Given the description of an element on the screen output the (x, y) to click on. 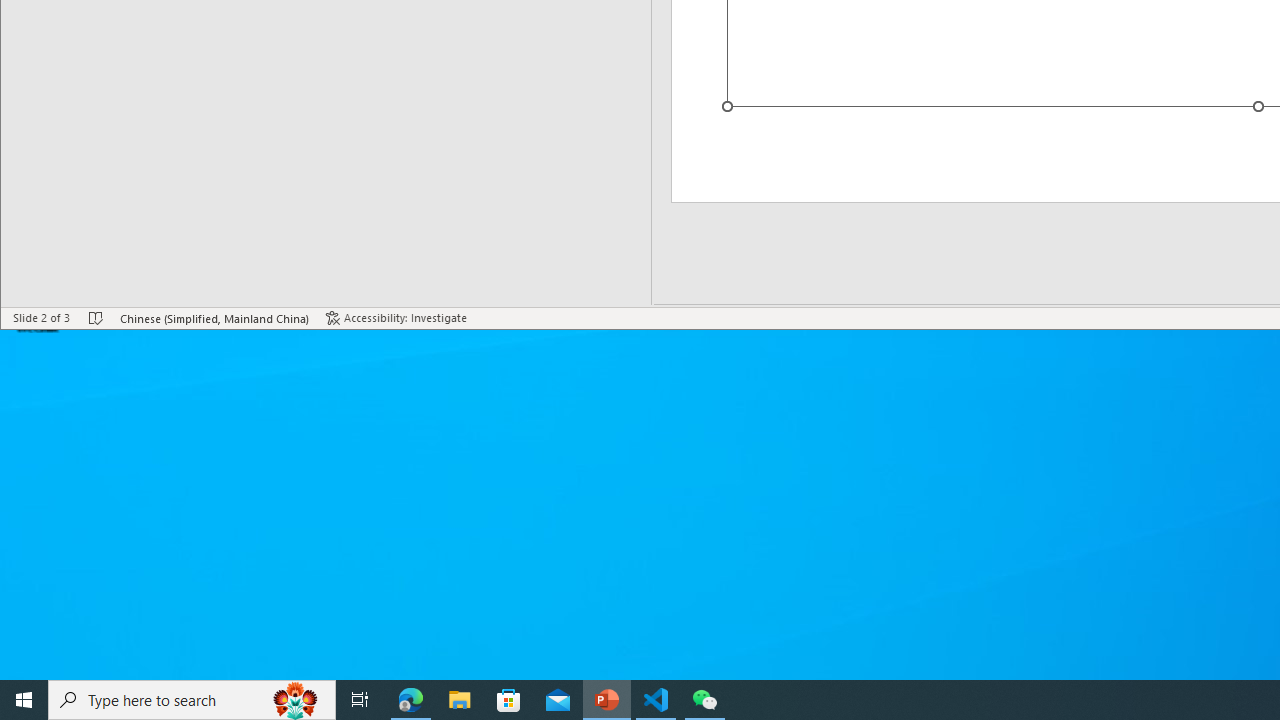
WeChat - 1 running window (704, 699)
Microsoft Edge - 1 running window (411, 699)
